Given the description of an element on the screen output the (x, y) to click on. 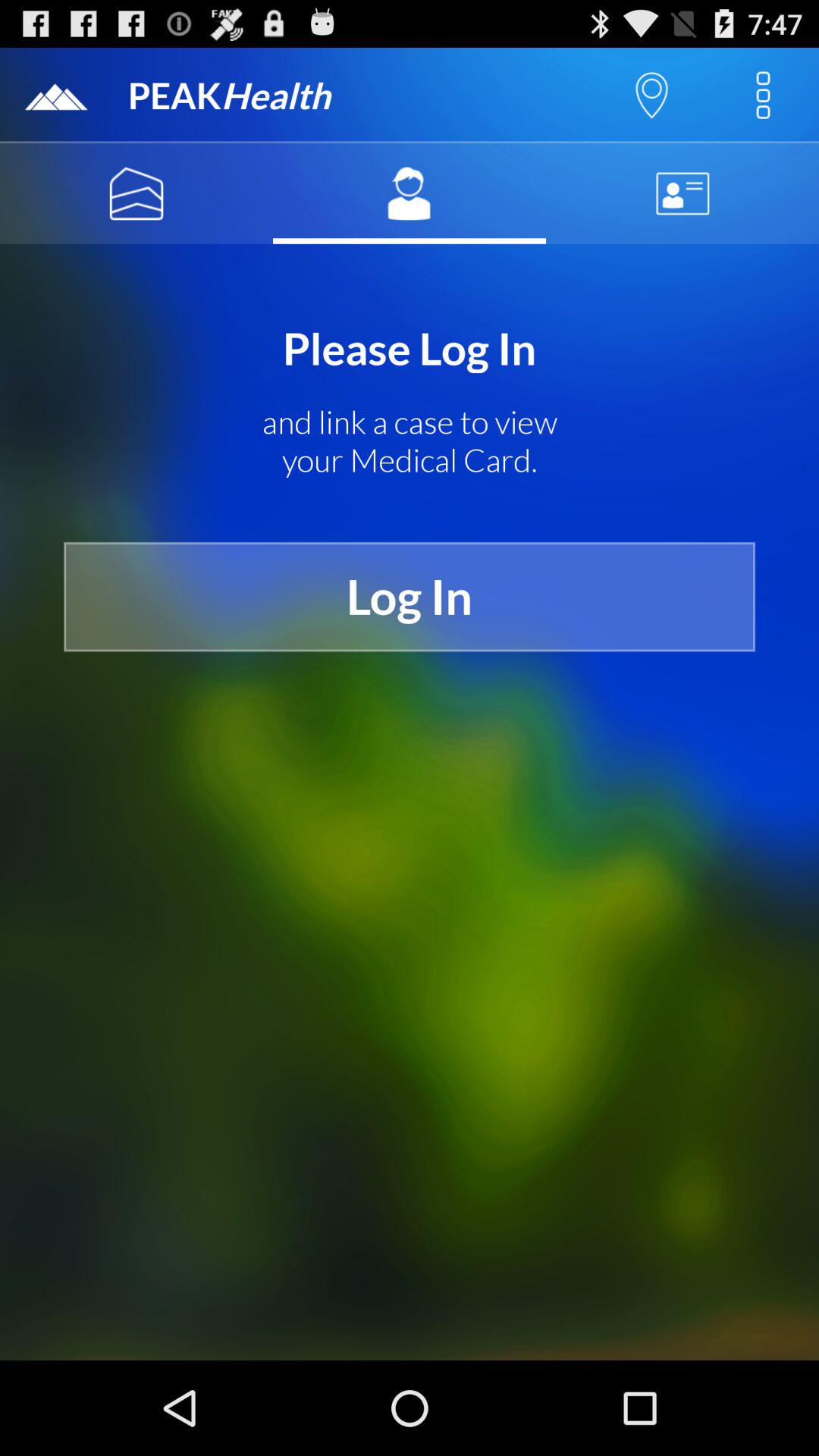
open the item above the please log in icon (682, 193)
